Given the description of an element on the screen output the (x, y) to click on. 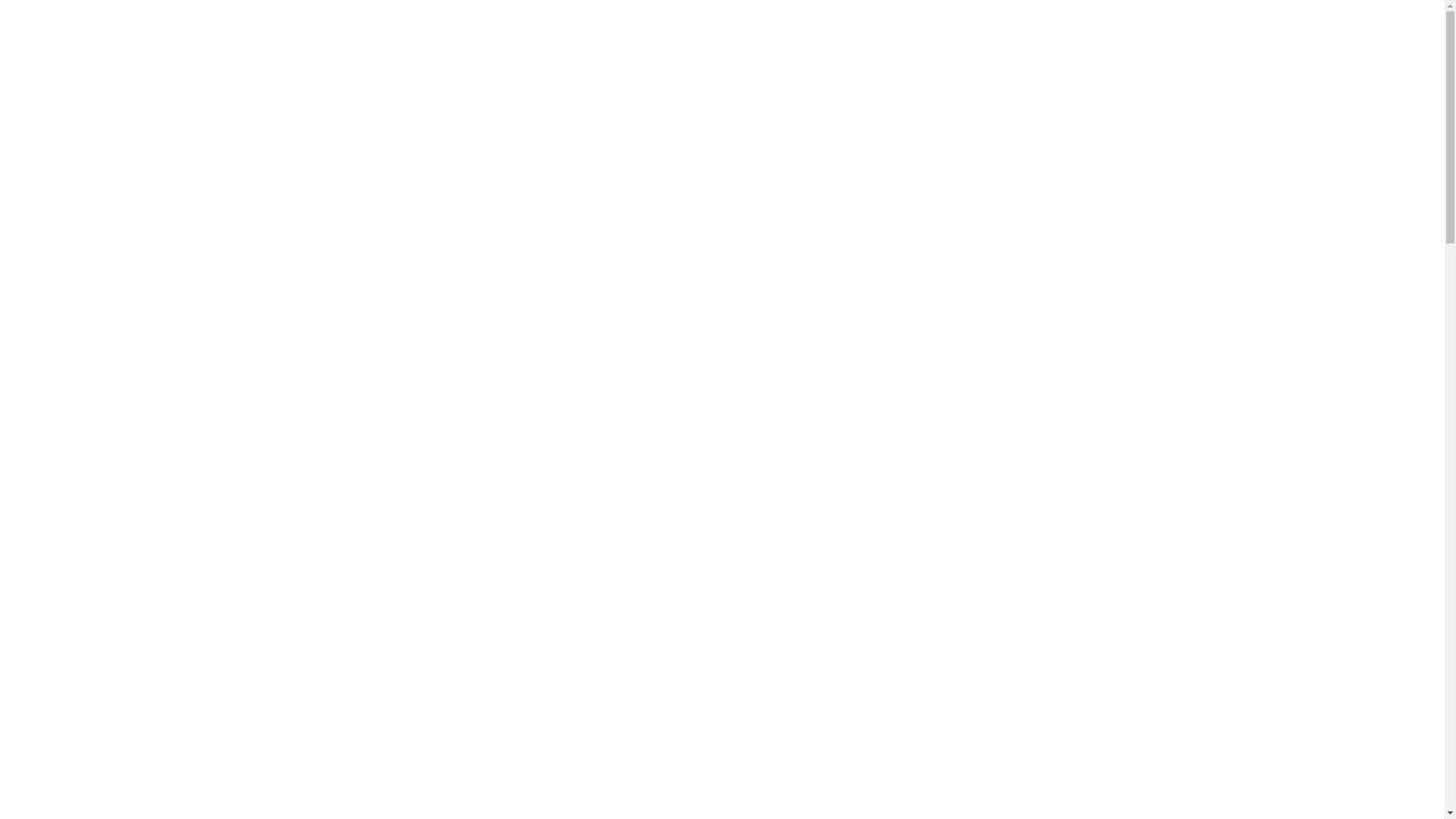
GLAVNA Element type: text (417, 34)
RECEPTI Element type: text (679, 34)
MOJ KUHAR Element type: text (606, 34)
0 Element type: text (919, 719)
Kocke od tikvica i feta sira Element type: text (375, 658)
DODAJ RECEPT Element type: text (1132, 34)
0 Element type: text (692, 719)
Advertisement Element type: hover (722, 281)
0 Element type: text (464, 719)
FORUM Element type: text (536, 34)
KONTAKT Element type: text (746, 34)
